Given the description of an element on the screen output the (x, y) to click on. 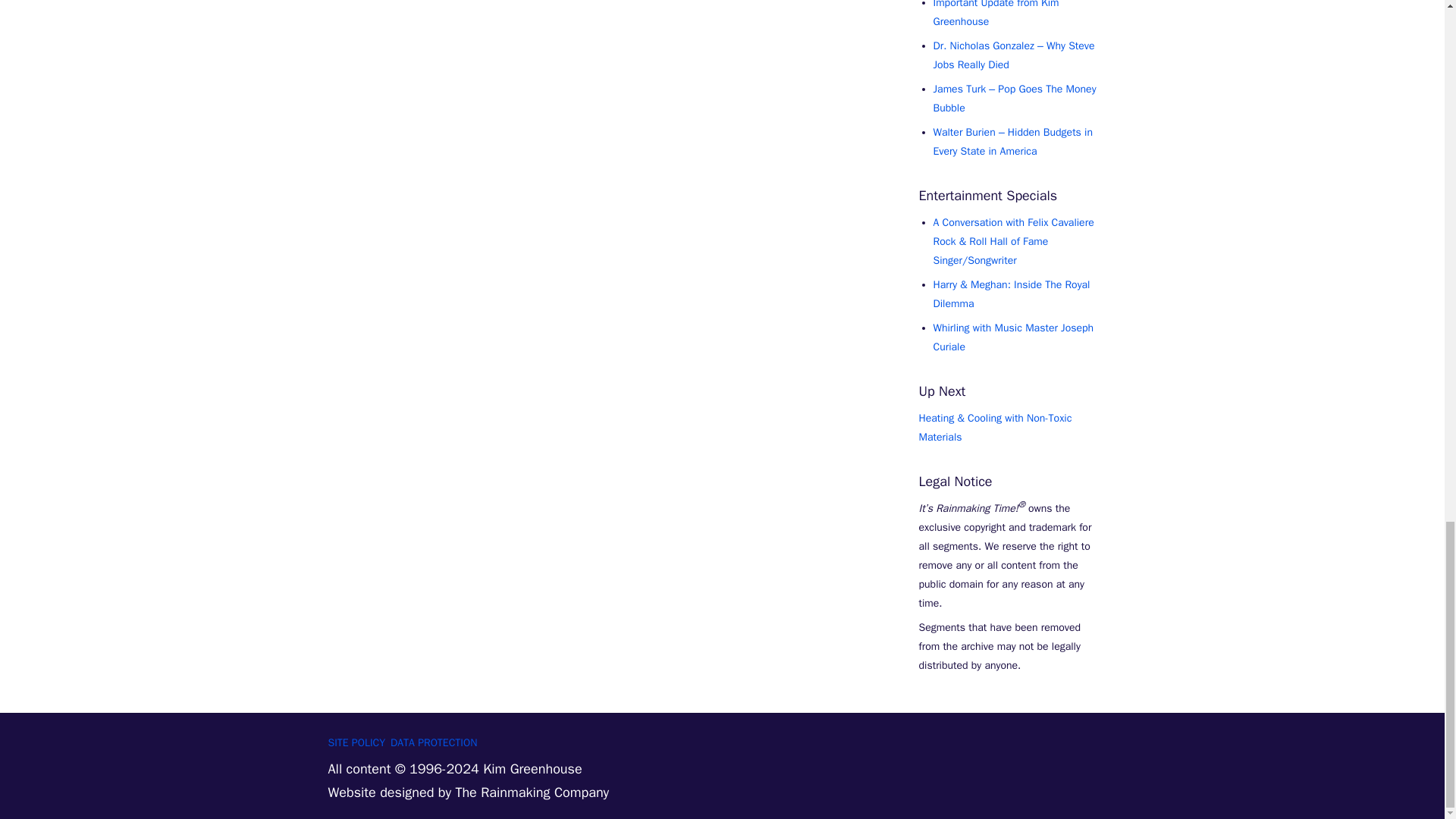
Important Update from Kim Greenhouse (995, 13)
Read Important Update from Kim Greenhouse (995, 13)
Read Whirling with Music Master Joseph Curiale (1013, 336)
Whirling with Music Master Joseph Curiale (1013, 336)
SITE POLICY (356, 742)
DATA PROTECTION (433, 742)
